Given the description of an element on the screen output the (x, y) to click on. 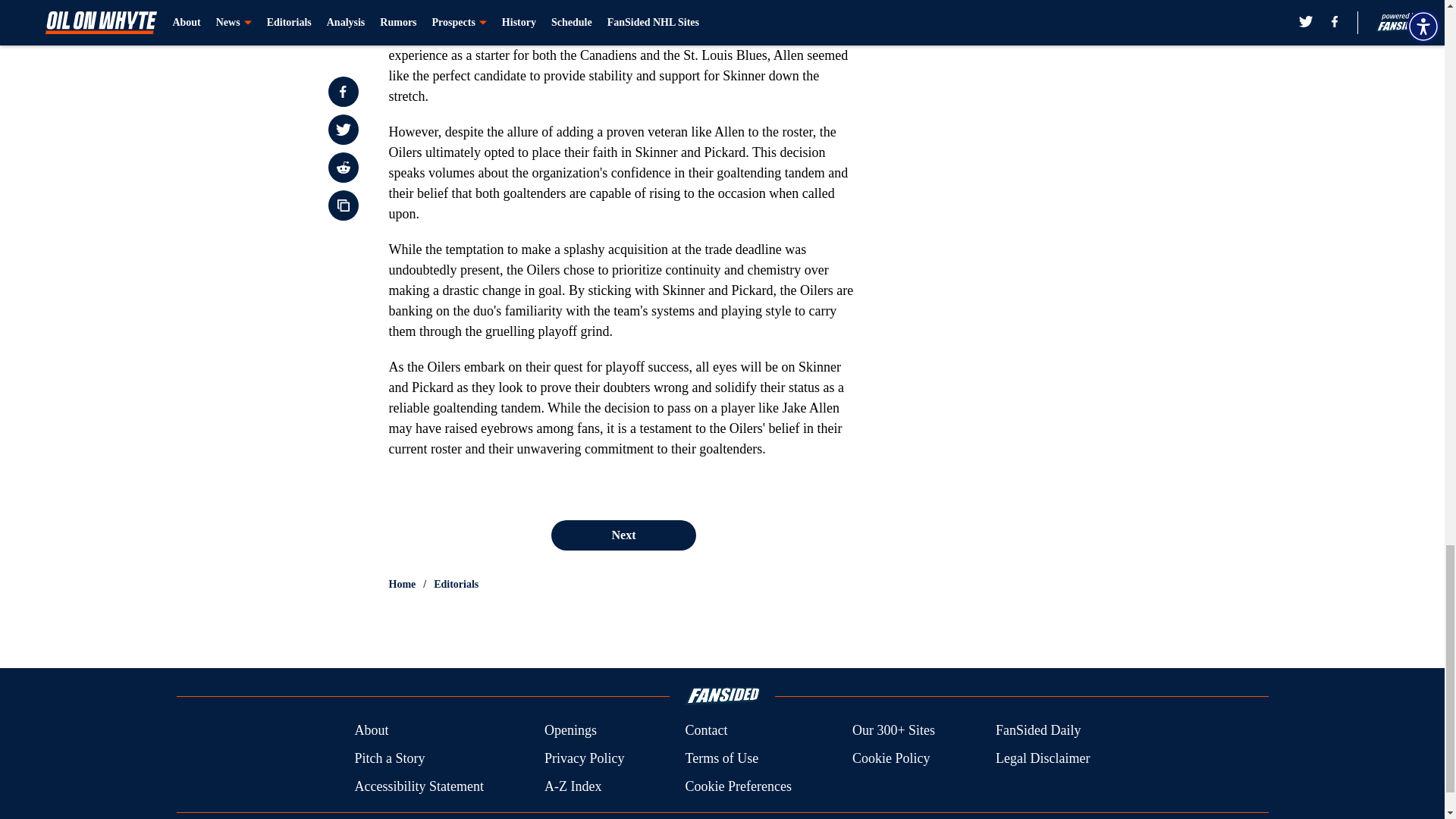
Home (401, 584)
FanSided Daily (1038, 730)
About (370, 730)
Pitch a Story (389, 758)
Contact (705, 730)
Editorials (456, 584)
Openings (570, 730)
Next (622, 535)
